Given the description of an element on the screen output the (x, y) to click on. 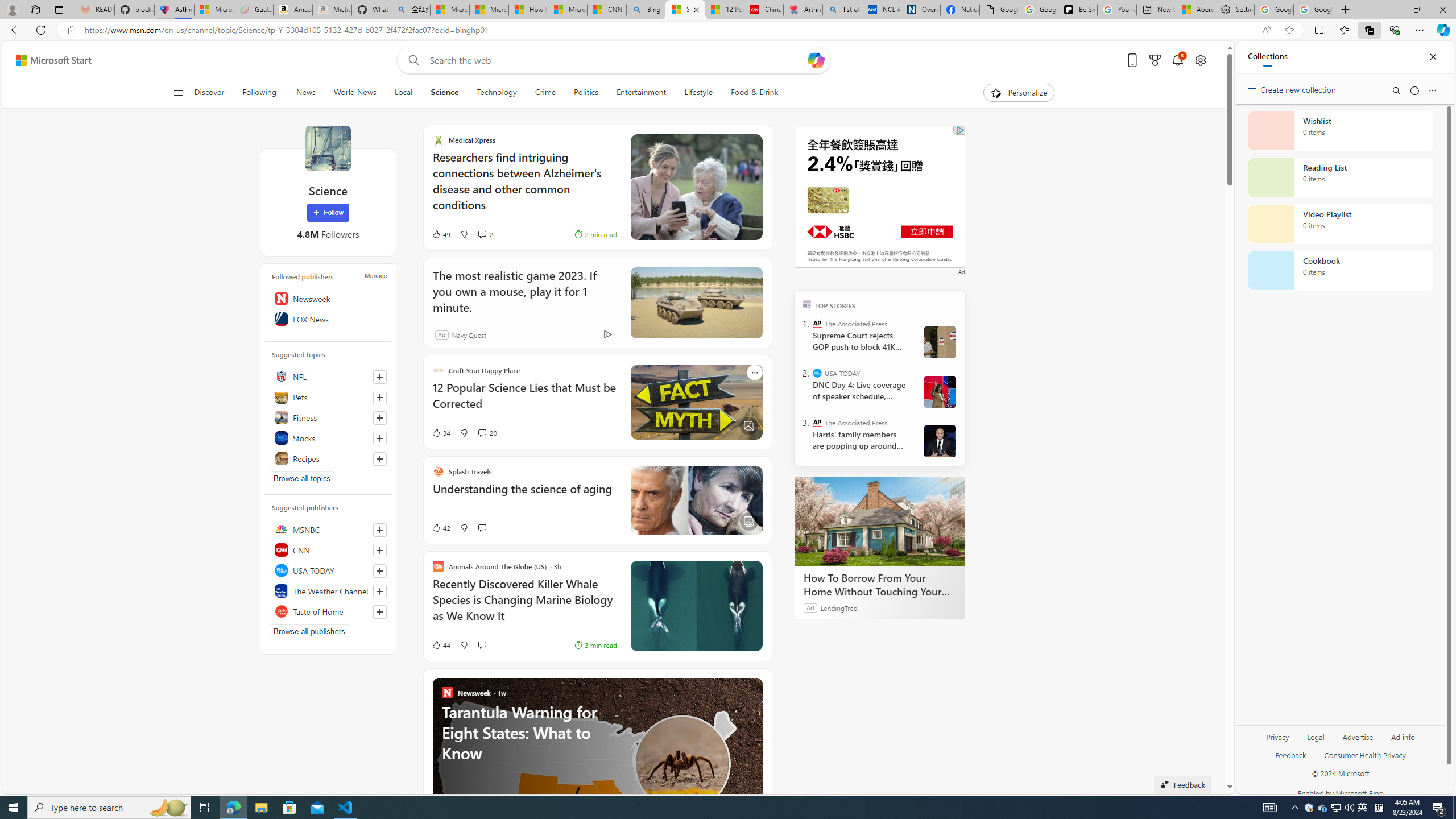
Politics (585, 92)
AutomationID: canvas (879, 196)
CNN - MSN (606, 9)
Class: qc-adchoices-icon (959, 130)
Consumer Health Privacy (1364, 754)
Browse all publishers (309, 631)
Splash TravelsUnderstanding the science of aging42 (596, 500)
